Given the description of an element on the screen output the (x, y) to click on. 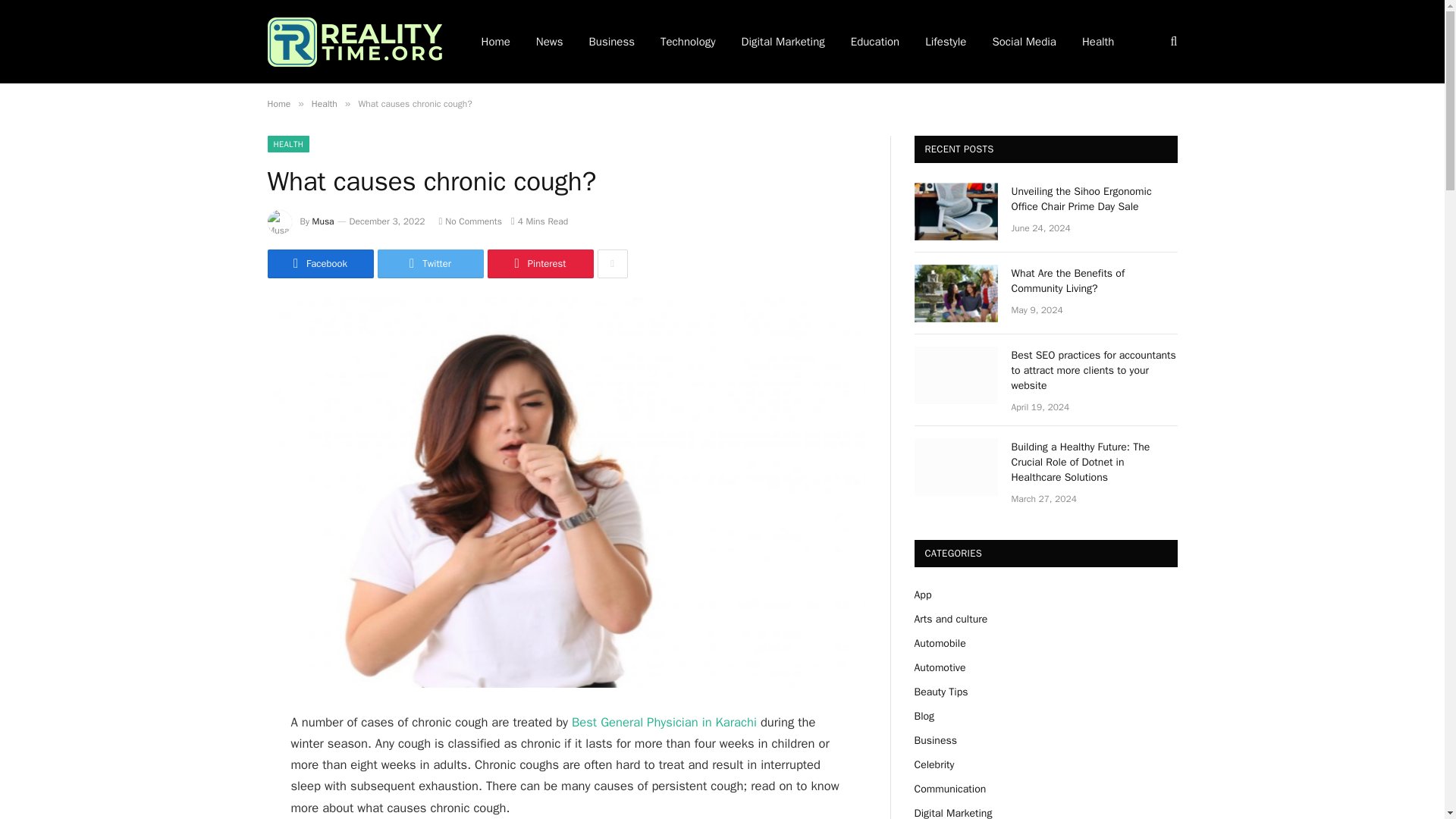
Show More Social Sharing (611, 263)
Digital Marketing (783, 41)
Share on Pinterest (539, 263)
No Comments (470, 221)
Technology (688, 41)
Best General Physician in Karachi (664, 722)
Facebook (319, 263)
Pinterest (539, 263)
Health (324, 103)
Posts by Musa (323, 221)
